Given the description of an element on the screen output the (x, y) to click on. 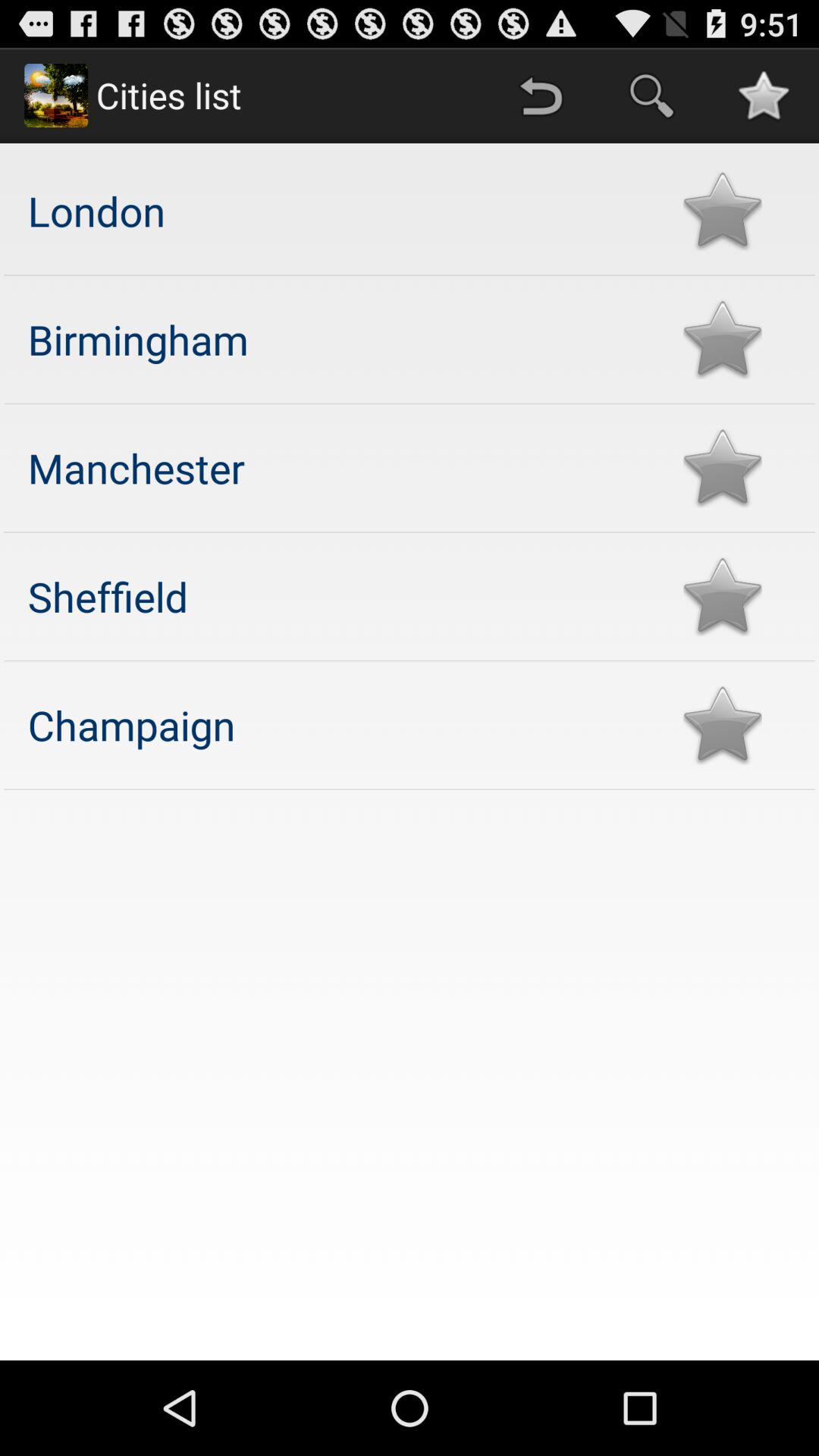
rating (722, 724)
